Given the description of an element on the screen output the (x, y) to click on. 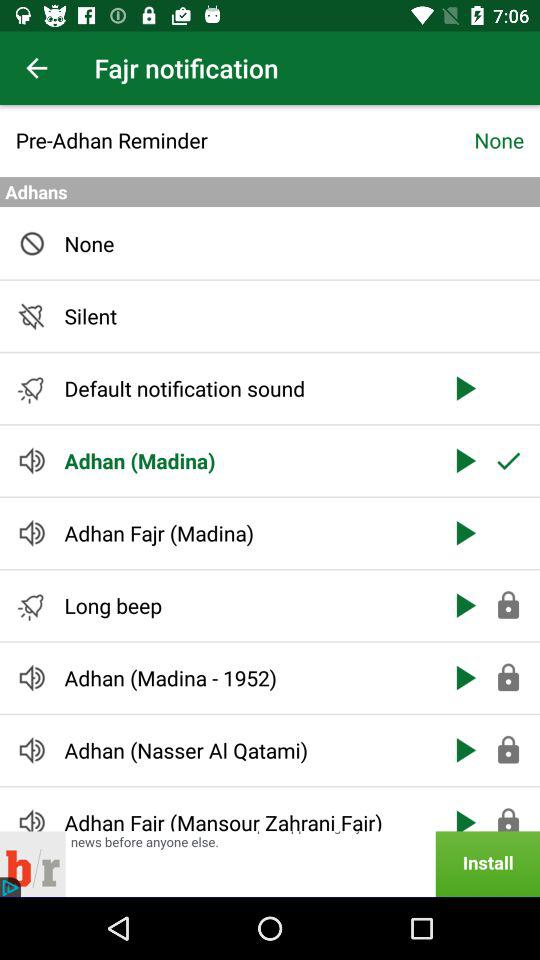
click on the button which is next to the default notification sound (463, 388)
click on the third arrow button (463, 532)
click on audio icon left to adhan madina  1952 (32, 678)
click on audio icon left to adhan fair (32, 818)
select the icon which is left side of the silent (32, 316)
